Given the description of an element on the screen output the (x, y) to click on. 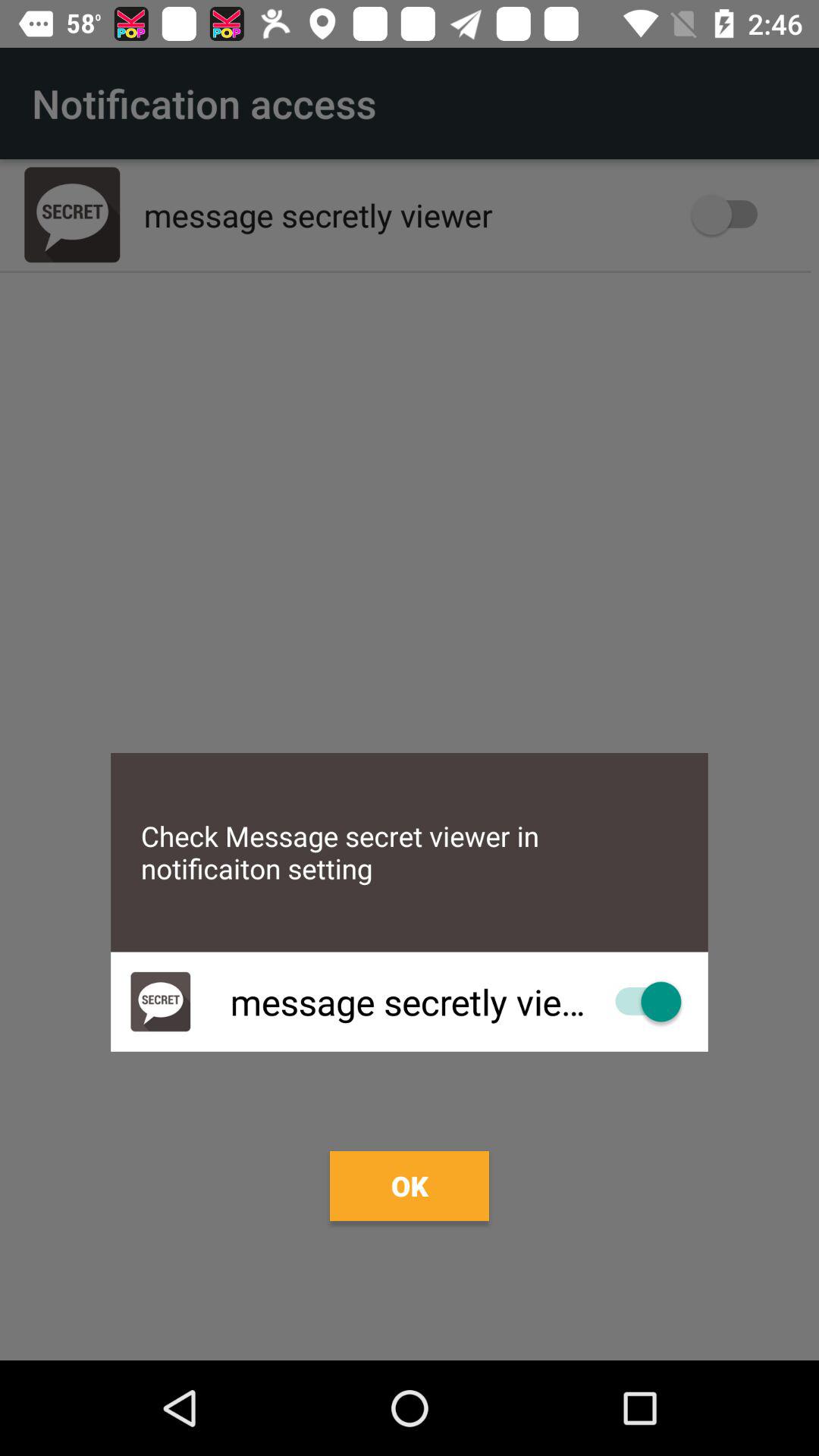
click the icon below message secretly viewer icon (409, 1186)
